Given the description of an element on the screen output the (x, y) to click on. 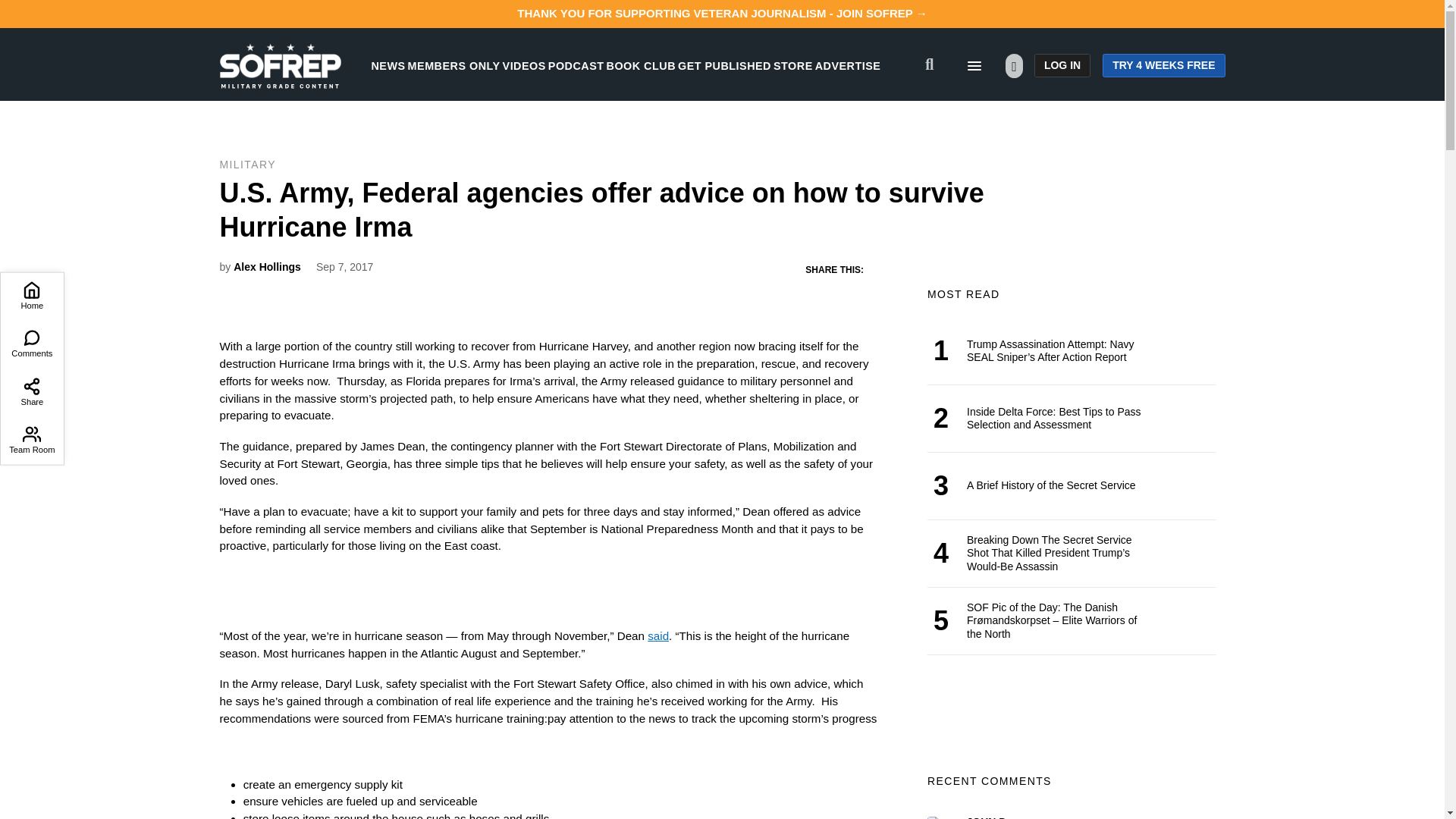
PODCAST (576, 65)
MEMBERS ONLY (453, 65)
ADVERTISE (847, 65)
TRY 4 WEEKS FREE (1163, 65)
STORE (792, 65)
GET PUBLISHED (724, 65)
VIDEOS (524, 65)
BOOK CLUB (641, 65)
NEWS (388, 65)
LOG IN (1061, 65)
